Given the description of an element on the screen output the (x, y) to click on. 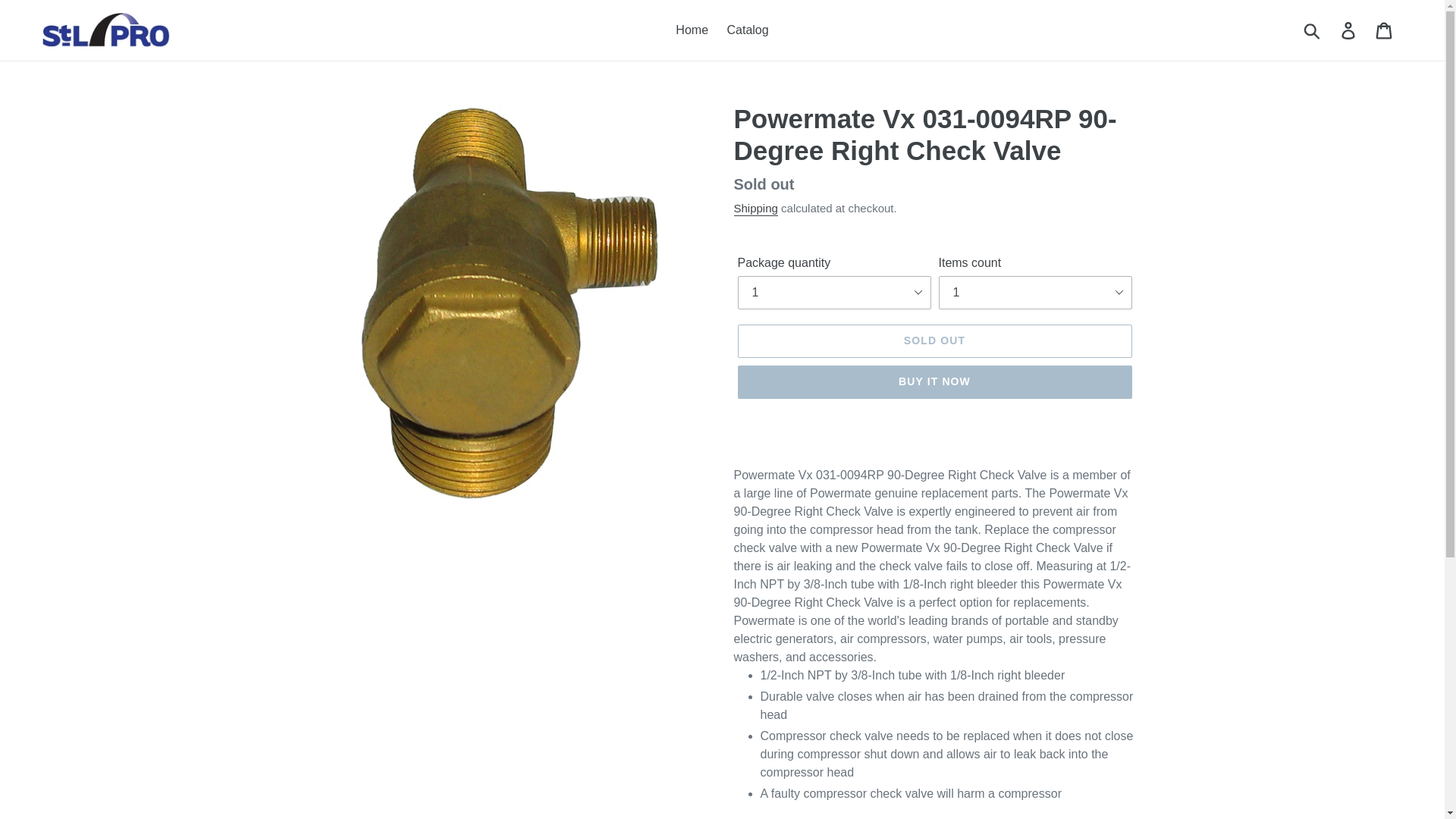
Submit (1313, 29)
BUY IT NOW (933, 381)
Shipping (755, 208)
Log in (1349, 29)
Catalog (747, 29)
SOLD OUT (933, 340)
Home (692, 29)
Cart (1385, 29)
